Given the description of an element on the screen output the (x, y) to click on. 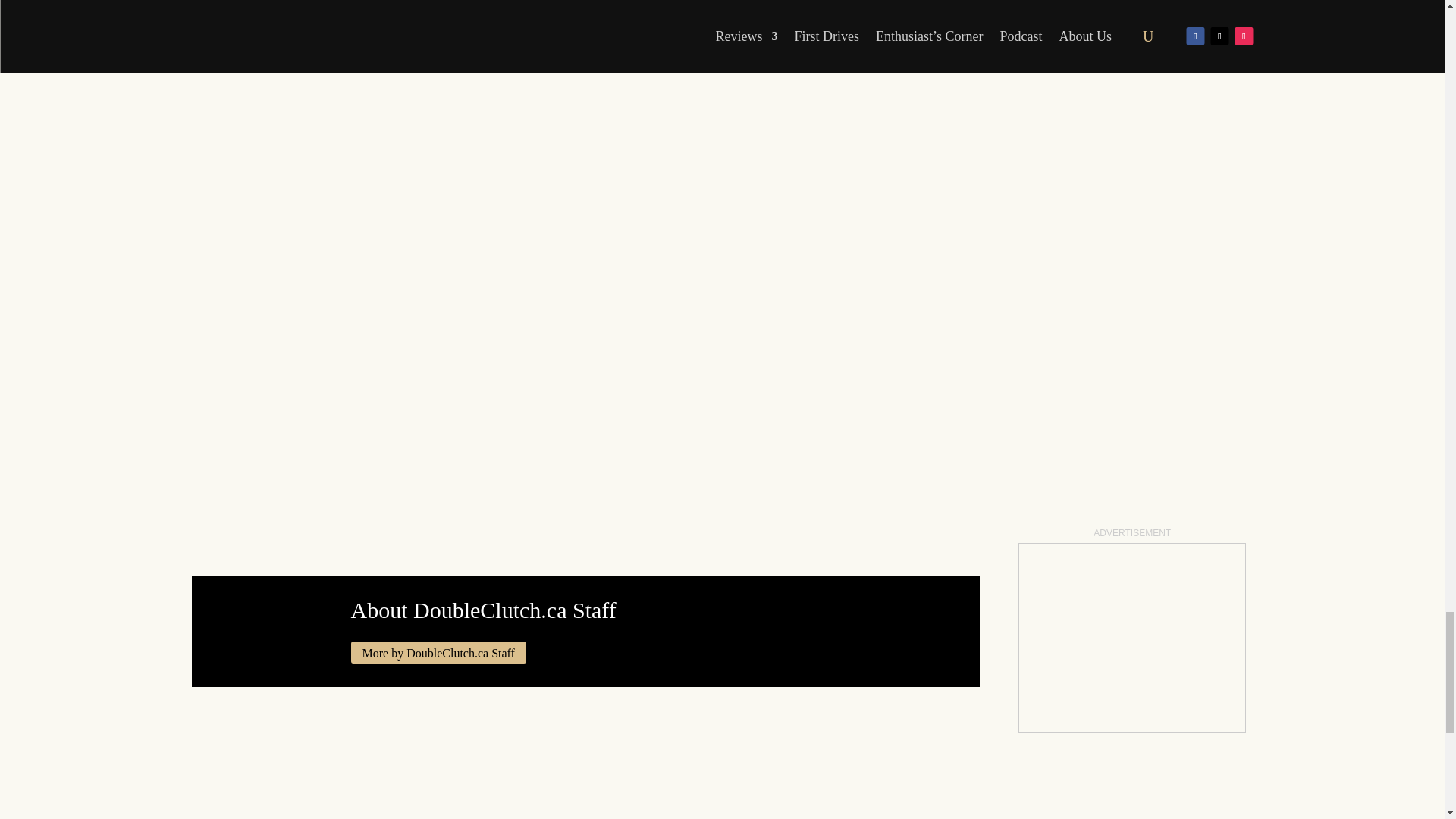
2014 Mercedes-Benz E350 Cabriolet top operation (426, 13)
2014 Mercedes-Benz E350 Cabriolet seat controls (585, 14)
2014 Mercedes-Benz E350 Cabriolet instrument cluster (744, 14)
2014 Mercedes-Benz E350 Cabriolet top up (266, 13)
